Given the description of an element on the screen output the (x, y) to click on. 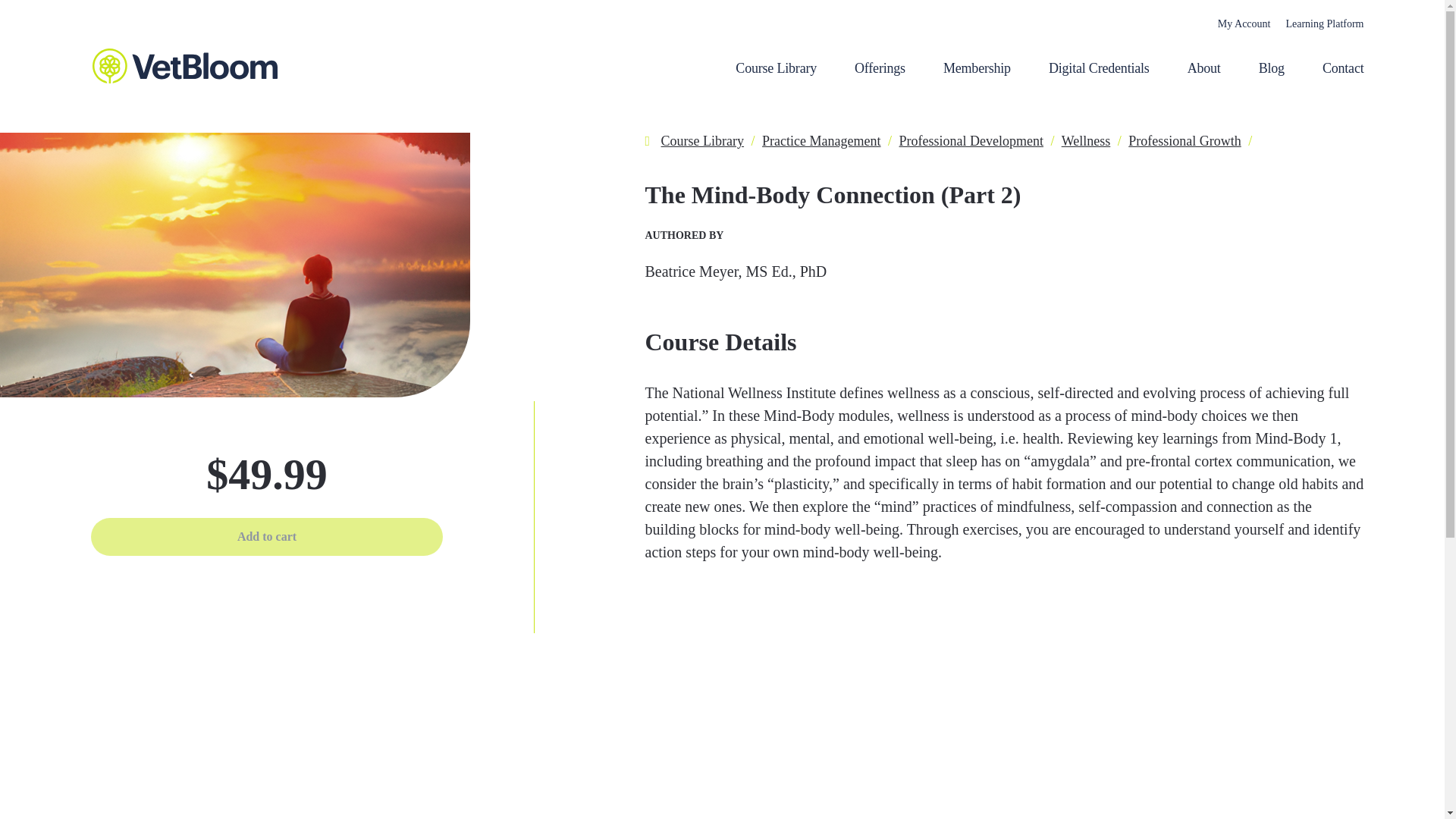
Practice Management (820, 140)
Professional Development (971, 140)
Add to cart (266, 536)
Professional Growth (1184, 140)
Course Library (702, 140)
Wellness (1085, 140)
